Given the description of an element on the screen output the (x, y) to click on. 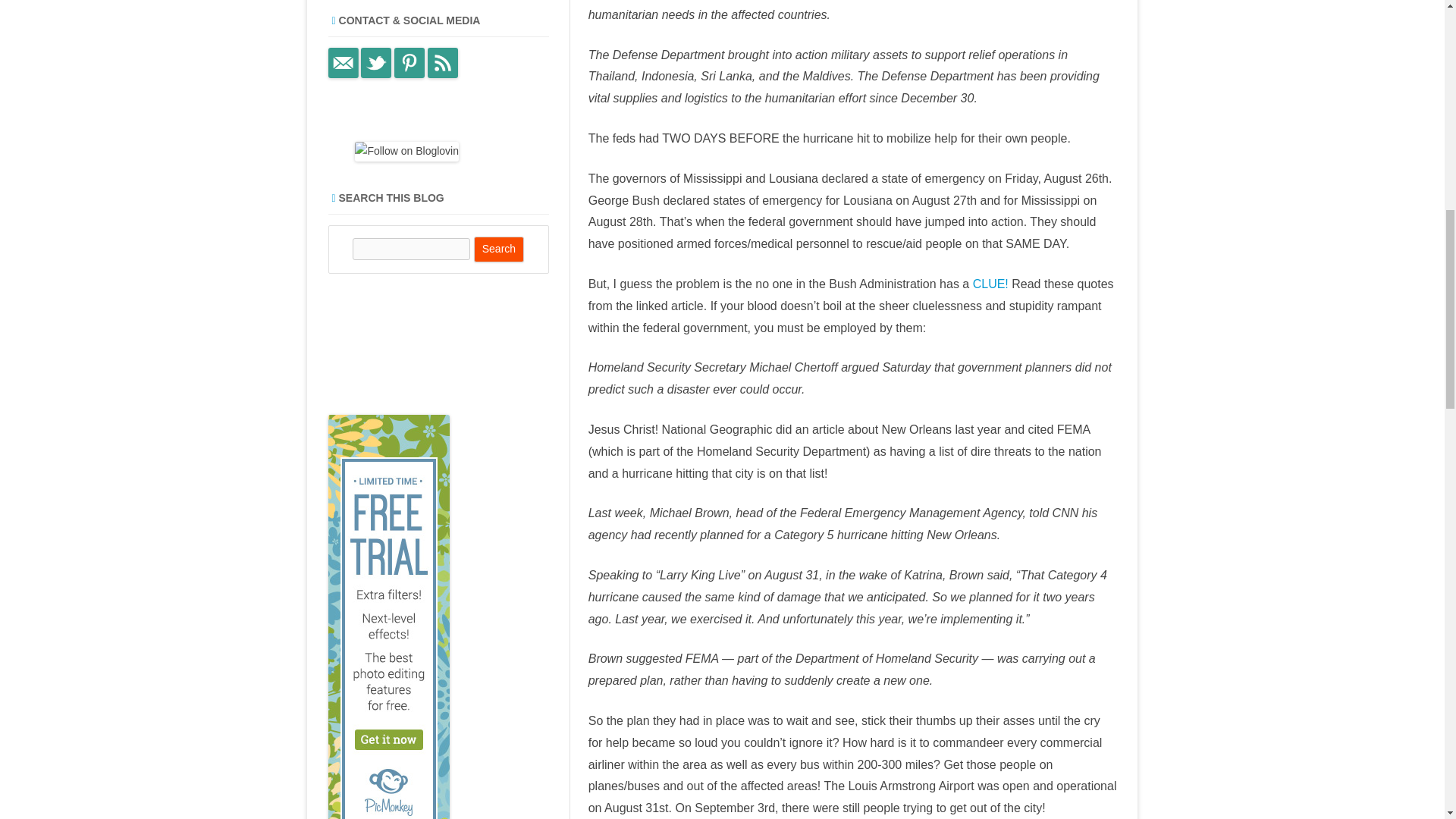
Search (499, 249)
Follow Chronicles of Nothing on Bloglovin (406, 150)
CLUE! (991, 283)
